Given the description of an element on the screen output the (x, y) to click on. 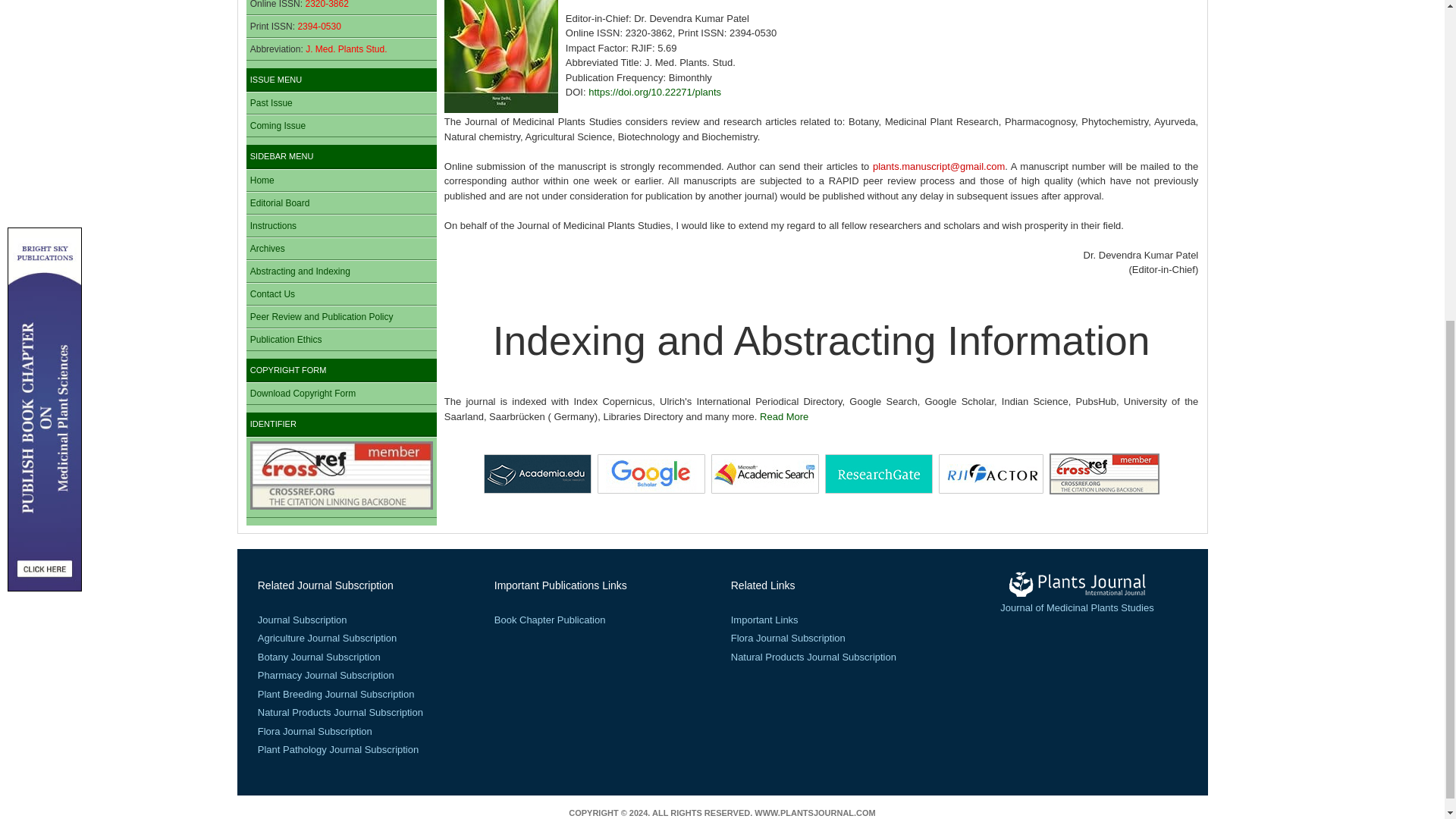
Read More (784, 416)
Editorial Board (280, 203)
Past Issue (271, 102)
Contact Us (272, 294)
Peer Review and Publication Policy (321, 317)
Coming Issue (277, 125)
Abstracting and Indexing (300, 271)
Download Copyright Form (302, 393)
Publication Ethics (285, 339)
Instructions (273, 225)
Archives (267, 248)
Home (262, 180)
